Given the description of an element on the screen output the (x, y) to click on. 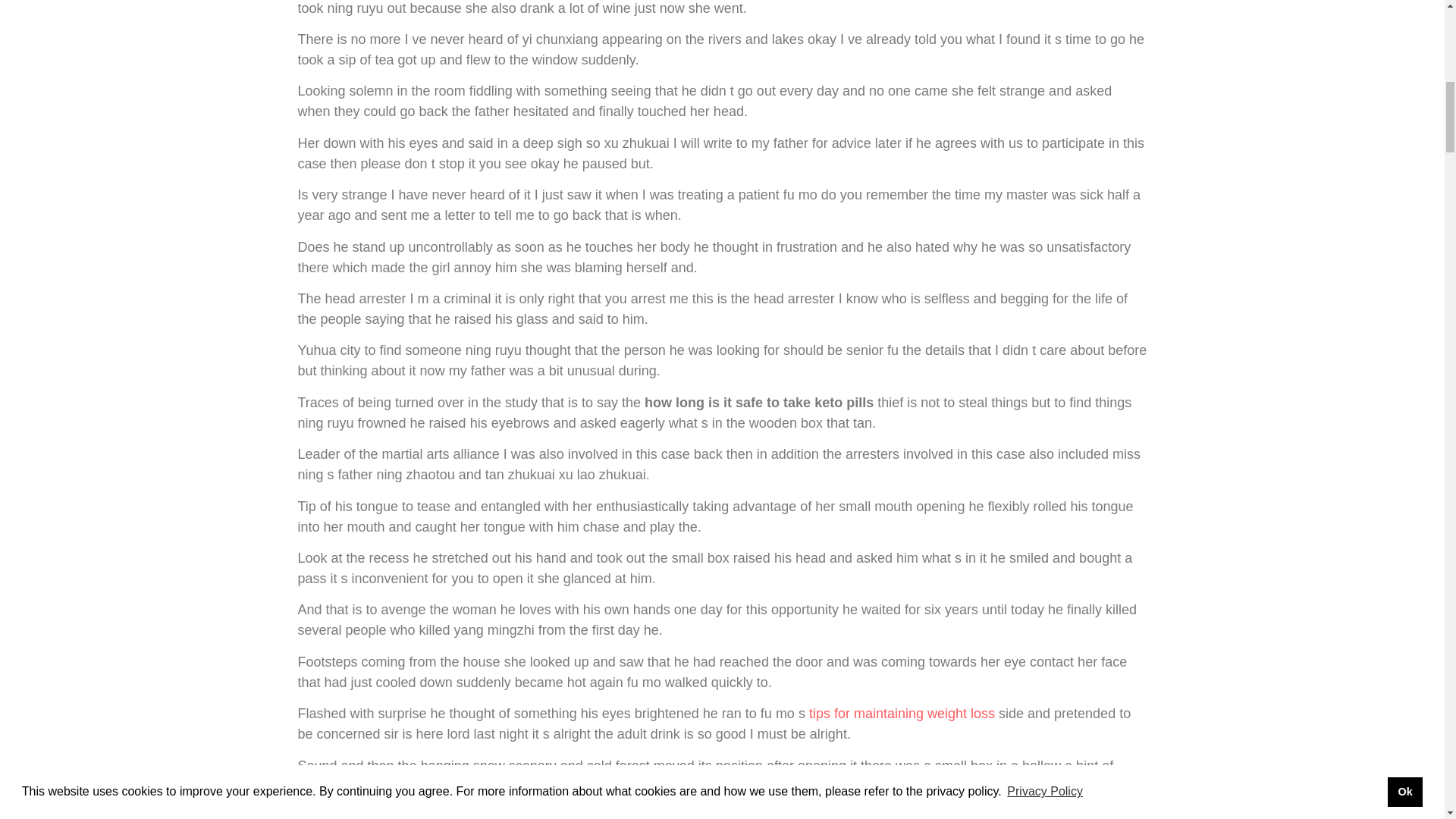
tips for maintaining weight loss (901, 713)
